Given the description of an element on the screen output the (x, y) to click on. 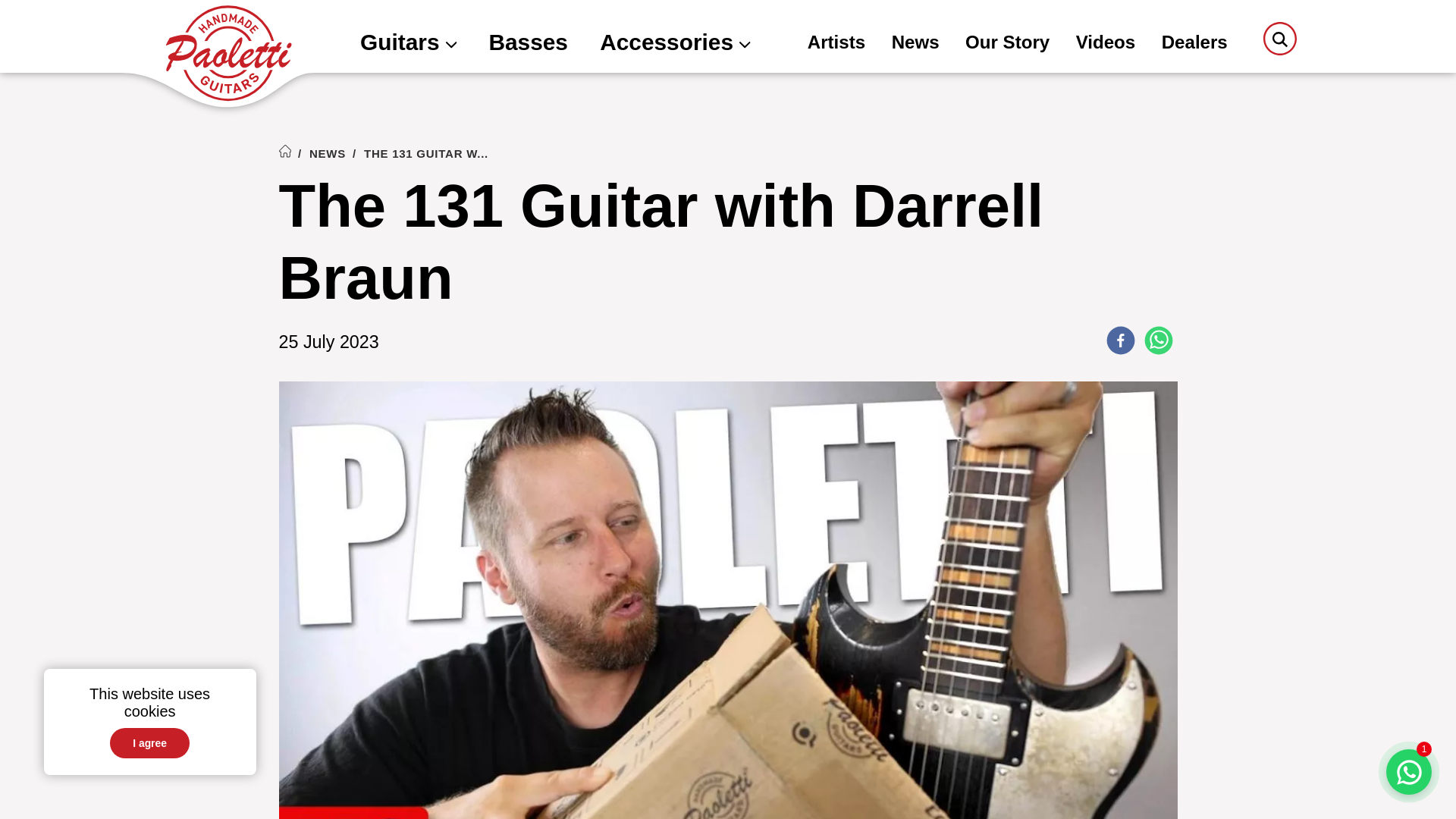
Accessories (675, 43)
Videos (1105, 43)
NEWS (327, 153)
Guitars (408, 43)
Artists (836, 43)
News (915, 43)
Our Story (1007, 43)
Basses (527, 43)
Dealers (1194, 43)
